Given the description of an element on the screen output the (x, y) to click on. 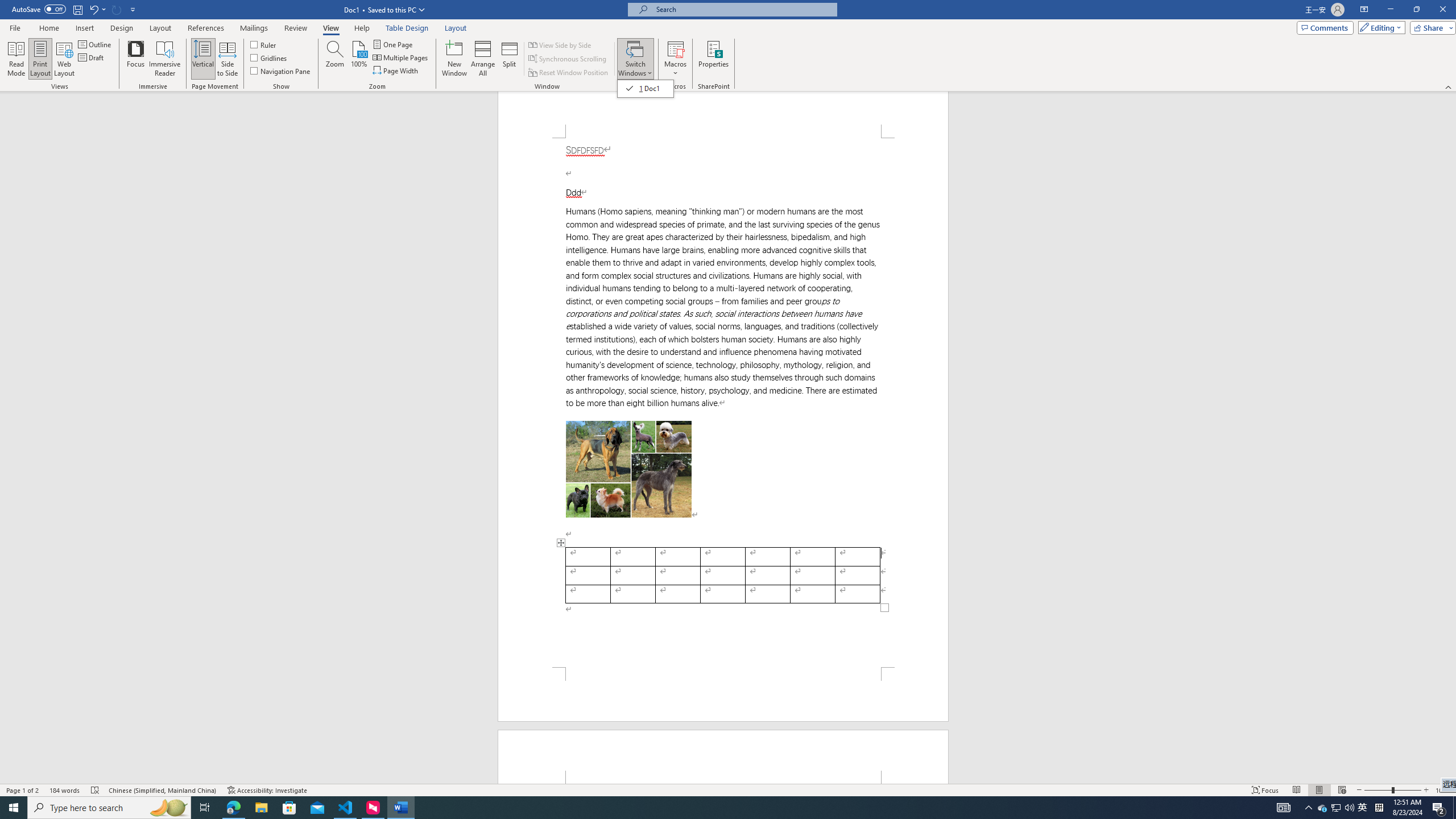
Help (361, 28)
View (330, 28)
Save (77, 9)
Navigation Pane (281, 69)
Undo Apply Quick Style Set (96, 9)
Review (295, 28)
Arrange All (483, 58)
Language Chinese (Simplified, Mainland China) (162, 790)
Comments (1325, 27)
AutomationID: 4105 (1283, 807)
Class: NetUIScrollBar (1450, 437)
